Given the description of an element on the screen output the (x, y) to click on. 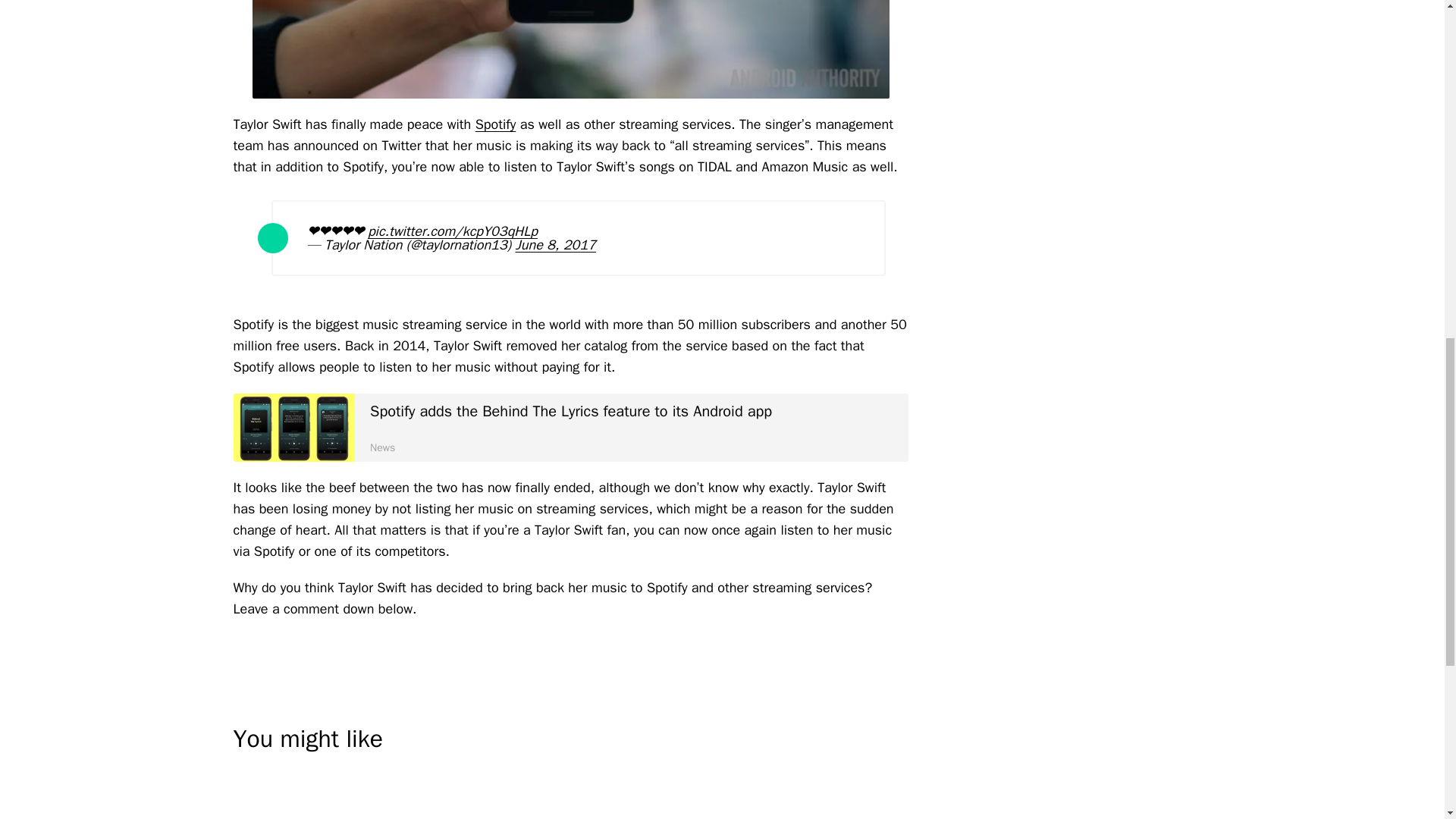
spotify-android-genius (293, 427)
Spotify-10 (569, 49)
June 8, 2017 (555, 244)
Spotify (496, 124)
